Given the description of an element on the screen output the (x, y) to click on. 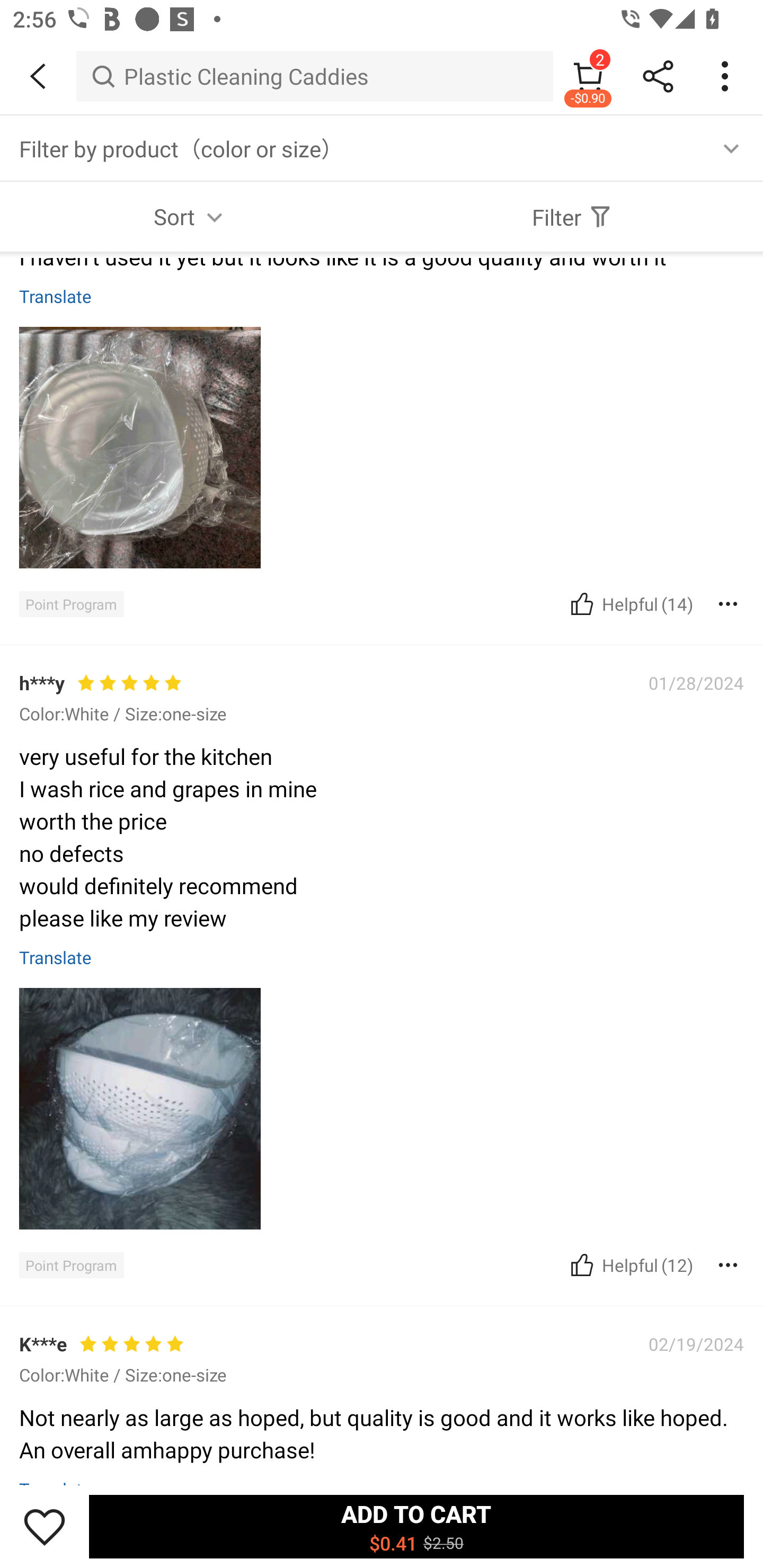
BACK (38, 75)
2 -$0.90 (588, 75)
Plastic Cleaning Caddies (314, 75)
Filter by product（color or size） (381, 148)
Sort (190, 215)
Filter (572, 215)
Translate (55, 295)
Cancel Helpful Was this article helpful? (14) (629, 603)
Point Program (71, 604)
Translate (55, 957)
Cancel Helpful Was this article helpful? (12) (629, 1265)
Point Program (71, 1264)
ADD TO CART $0.41 $2.50 (416, 1526)
Save (44, 1526)
